Given the description of an element on the screen output the (x, y) to click on. 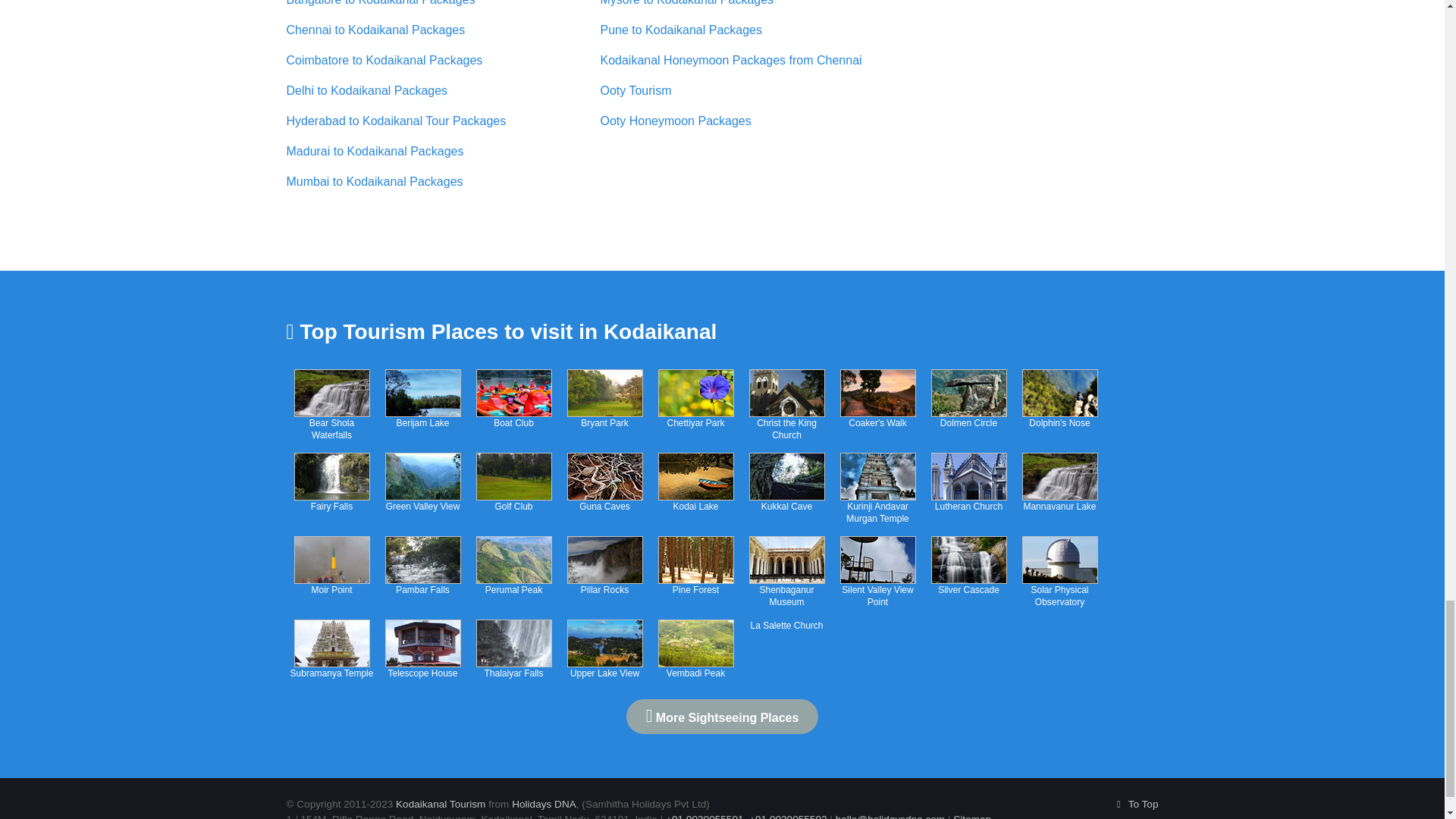
Kodaikanal Honeymoon Packages from Chennai (730, 60)
Mumbai to Kodaikanal Packages (374, 181)
Mysore to Kodaikanal Packages (686, 2)
Chennai to Kodaikanal Packages (375, 29)
Bangalore to Kodaikanal Packages (381, 2)
Ooty Tourism (635, 90)
Coimbatore to Kodaikanal Packages (384, 60)
Delhi to Kodaikanal Packages (367, 90)
Madurai to Kodaikanal Packages (375, 151)
Hyderabad to Kodaikanal Tour Packages (396, 120)
